Given the description of an element on the screen output the (x, y) to click on. 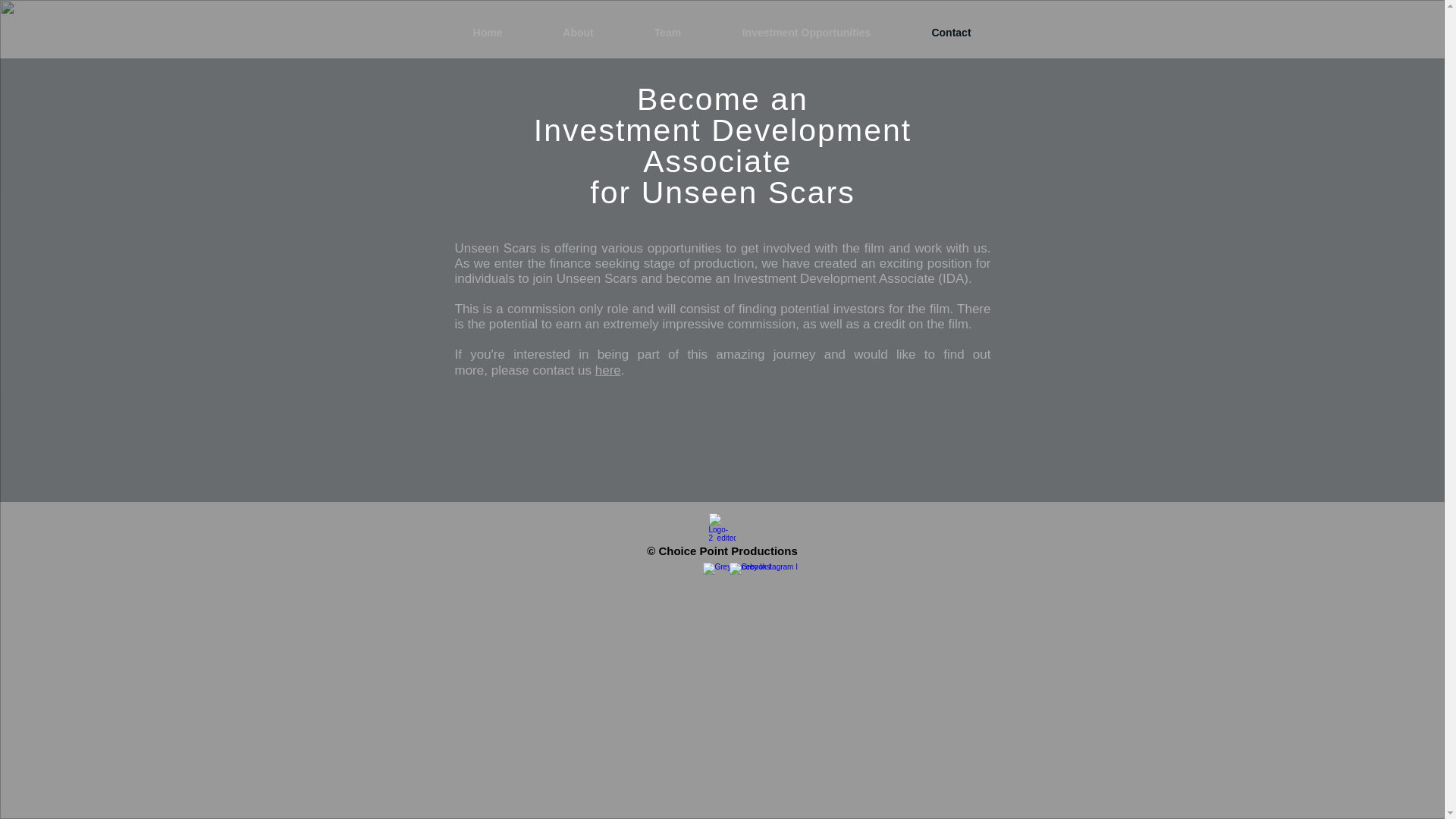
here (608, 370)
About (577, 32)
Investment Opportunities (806, 32)
Contact (951, 32)
Home (487, 32)
Team (667, 32)
Choice Point Productions (727, 550)
